Given the description of an element on the screen output the (x, y) to click on. 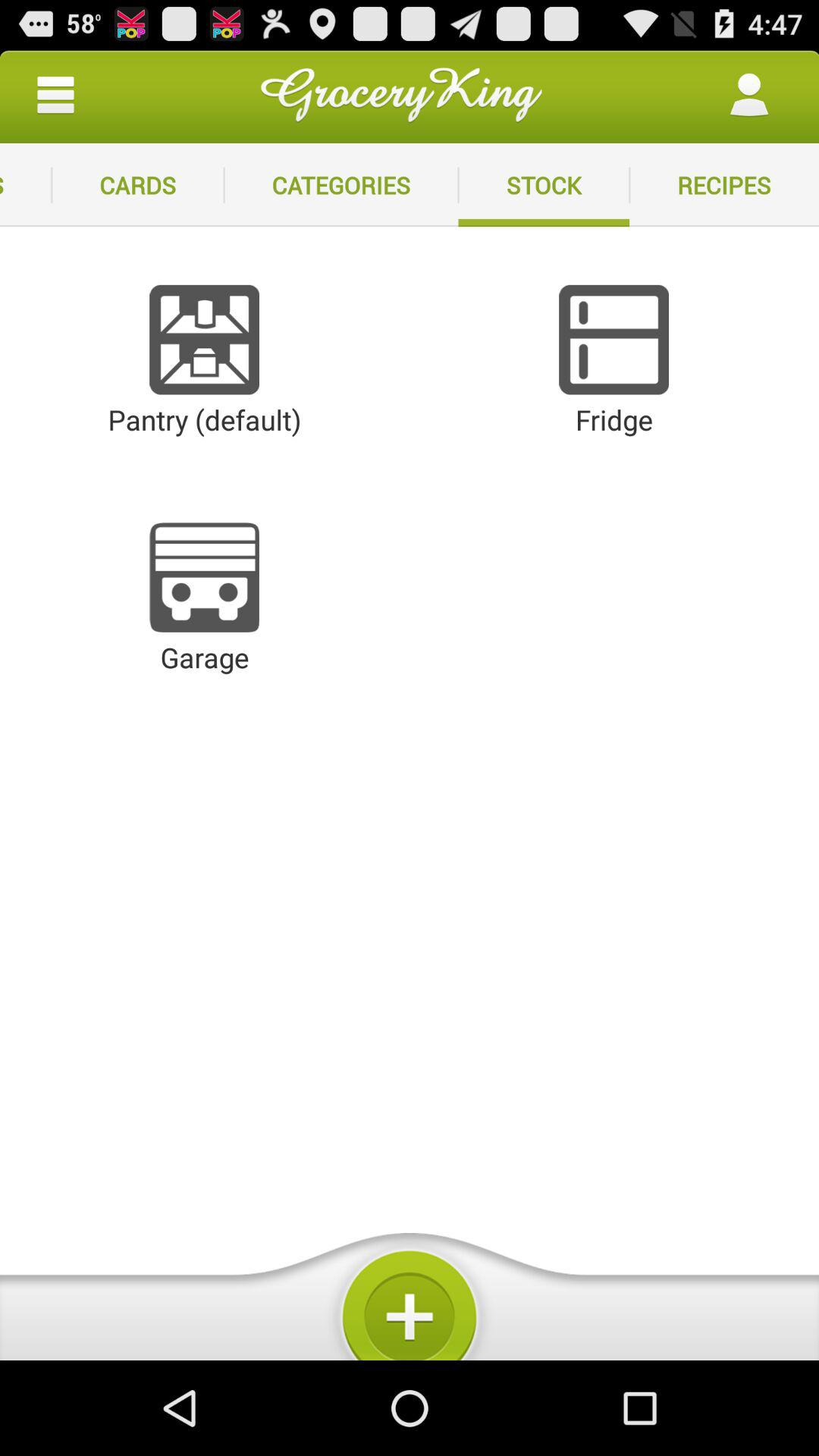
launch item to the right of stock icon (724, 184)
